Given the description of an element on the screen output the (x, y) to click on. 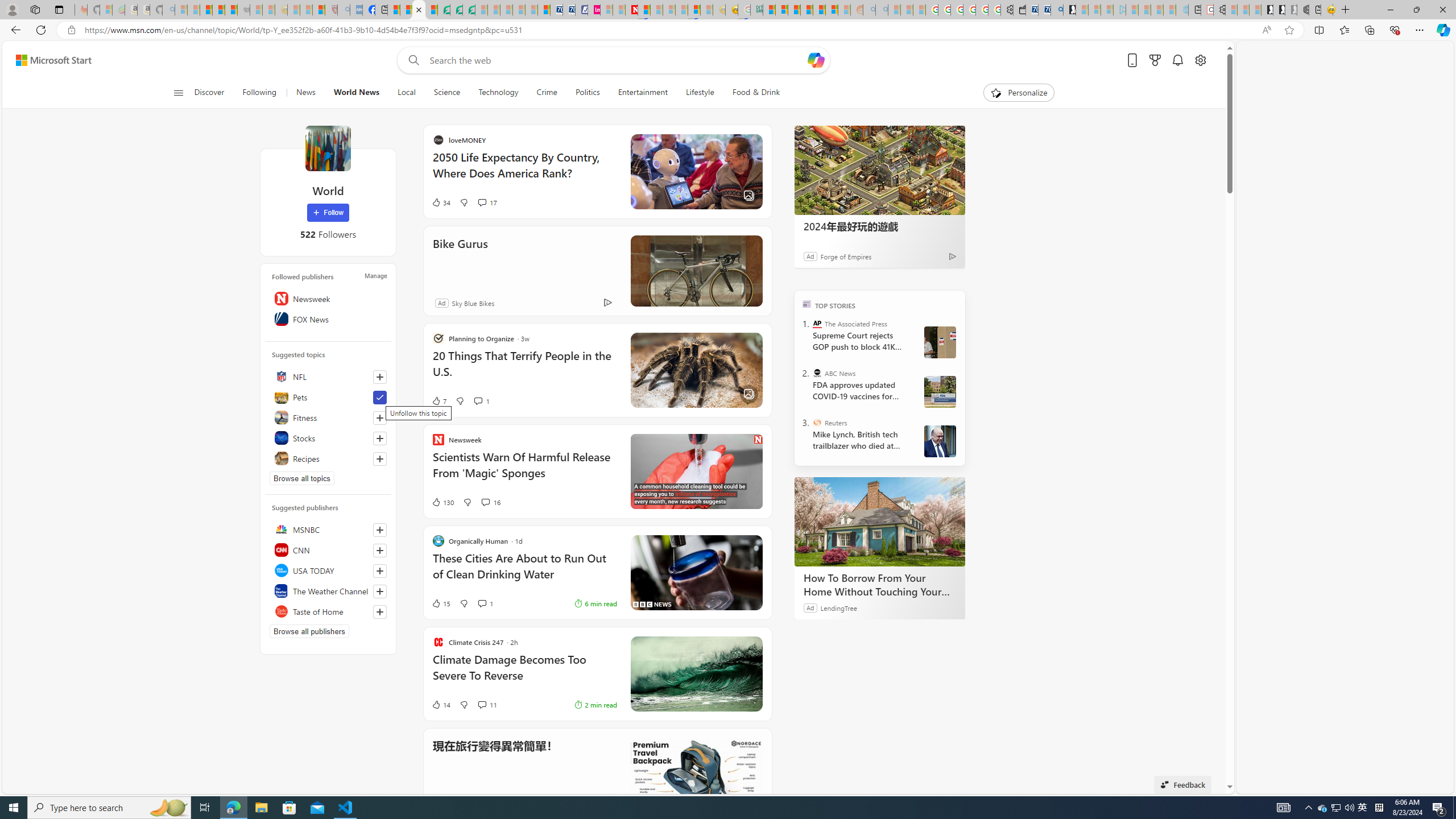
Follow this source (379, 612)
